Given the description of an element on the screen output the (x, y) to click on. 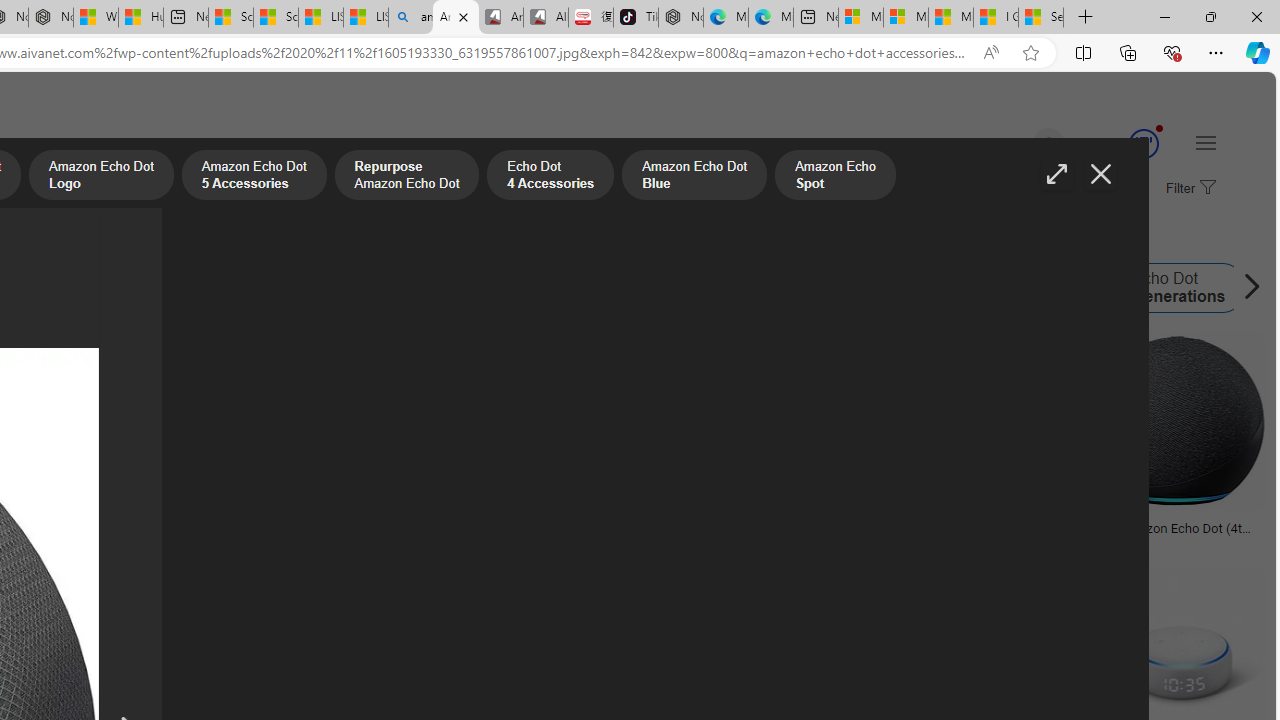
Echo Dot Generations (1162, 287)
Amazon Echo Dot 4th Gen (179, 287)
Alexa Echo Png Pic Png Arts Images (976, 534)
Class: item col (1161, 287)
pixabay.com (776, 542)
pnghq.com (96, 542)
Amazon Echo Dot Logo (390, 287)
Amazon Echo Dot Logo (314, 287)
